Given the description of an element on the screen output the (x, y) to click on. 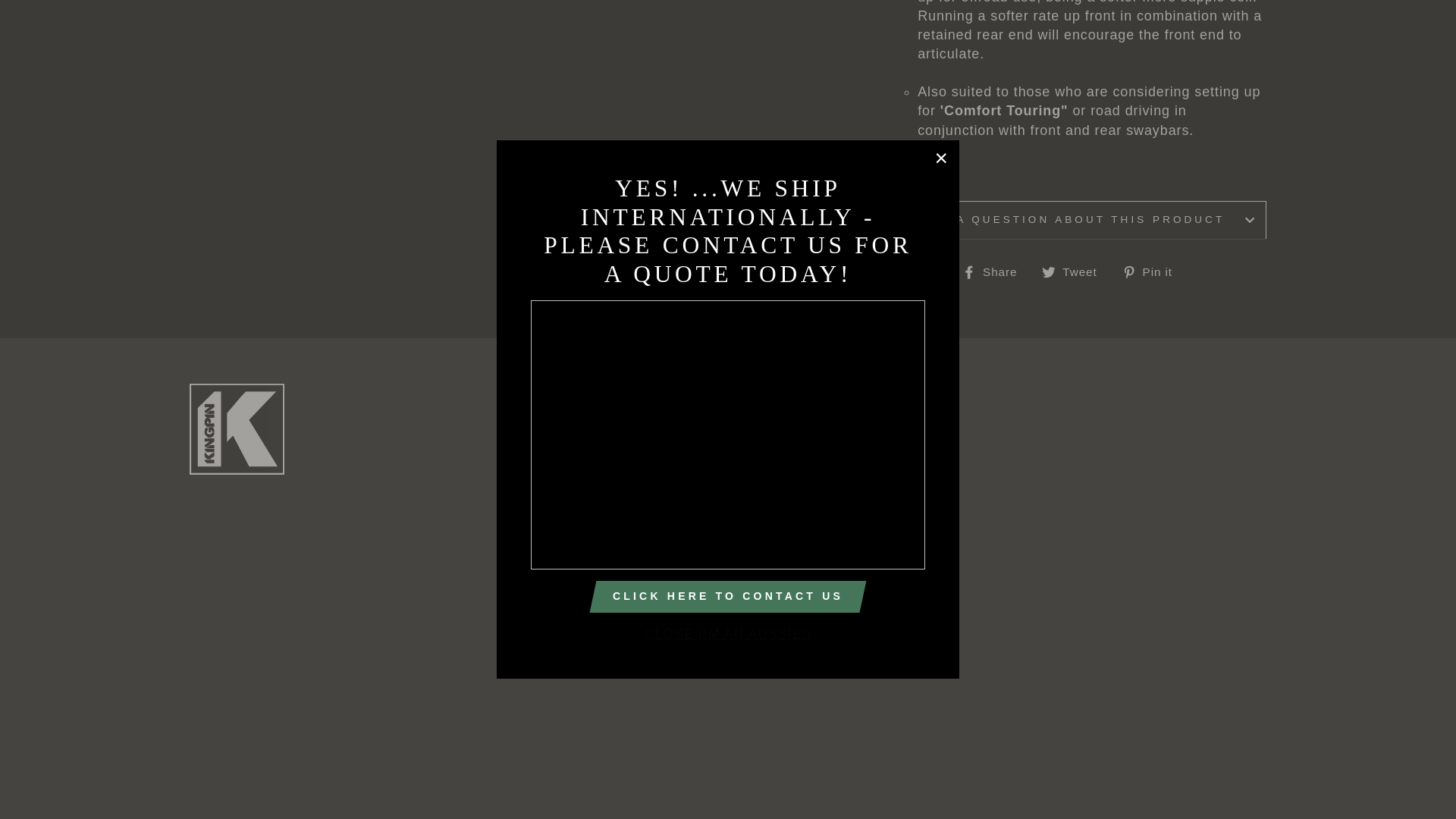
Shop Pay (745, 716)
Mastercard (710, 716)
Apple Pay (640, 716)
Google Pay (675, 716)
Visa (779, 716)
